Given the description of an element on the screen output the (x, y) to click on. 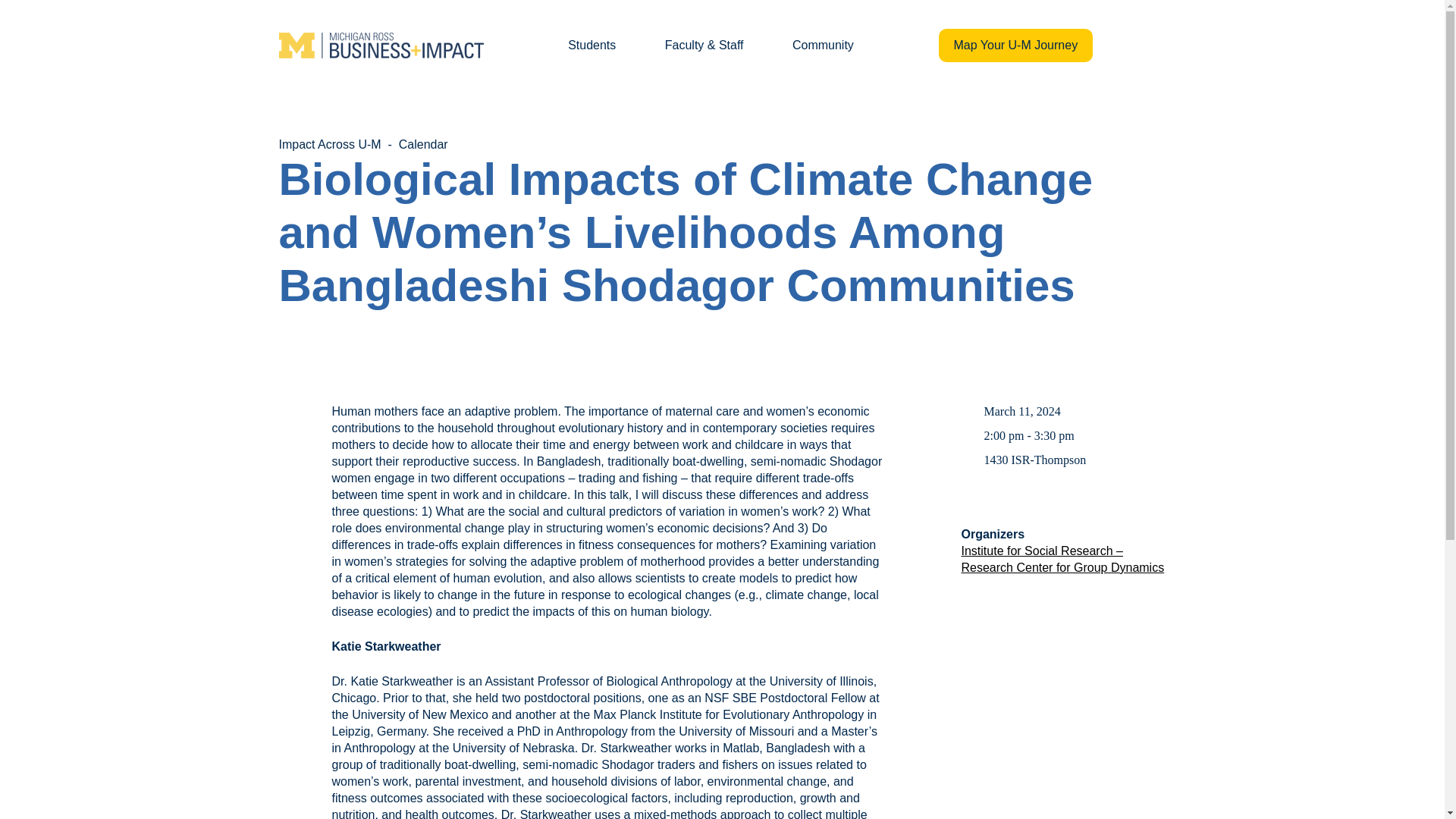
Community (822, 44)
Map Your U-M Journey (1016, 45)
Students (591, 44)
